Given the description of an element on the screen output the (x, y) to click on. 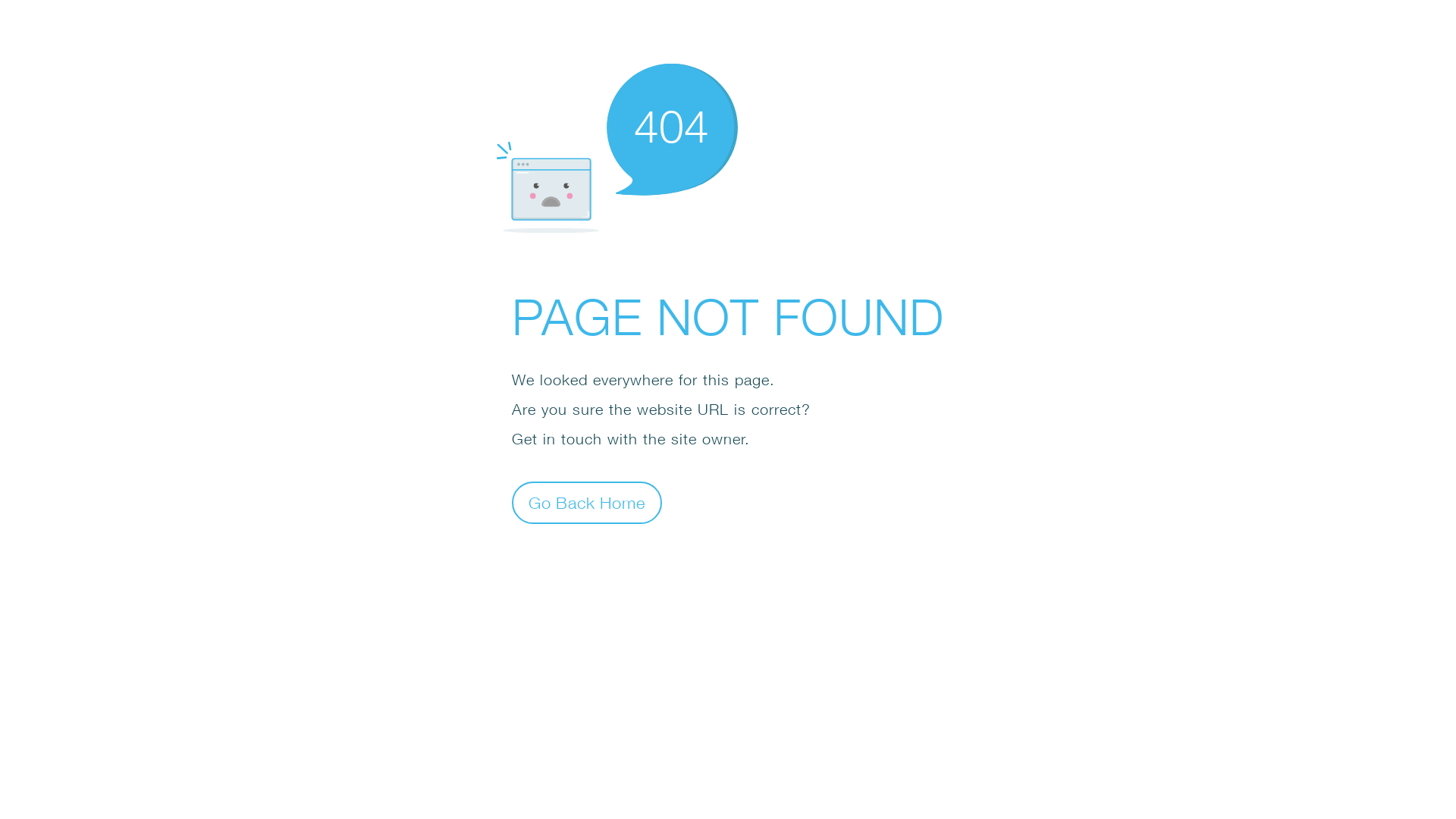
Go Back Home Element type: text (586, 502)
